Given the description of an element on the screen output the (x, y) to click on. 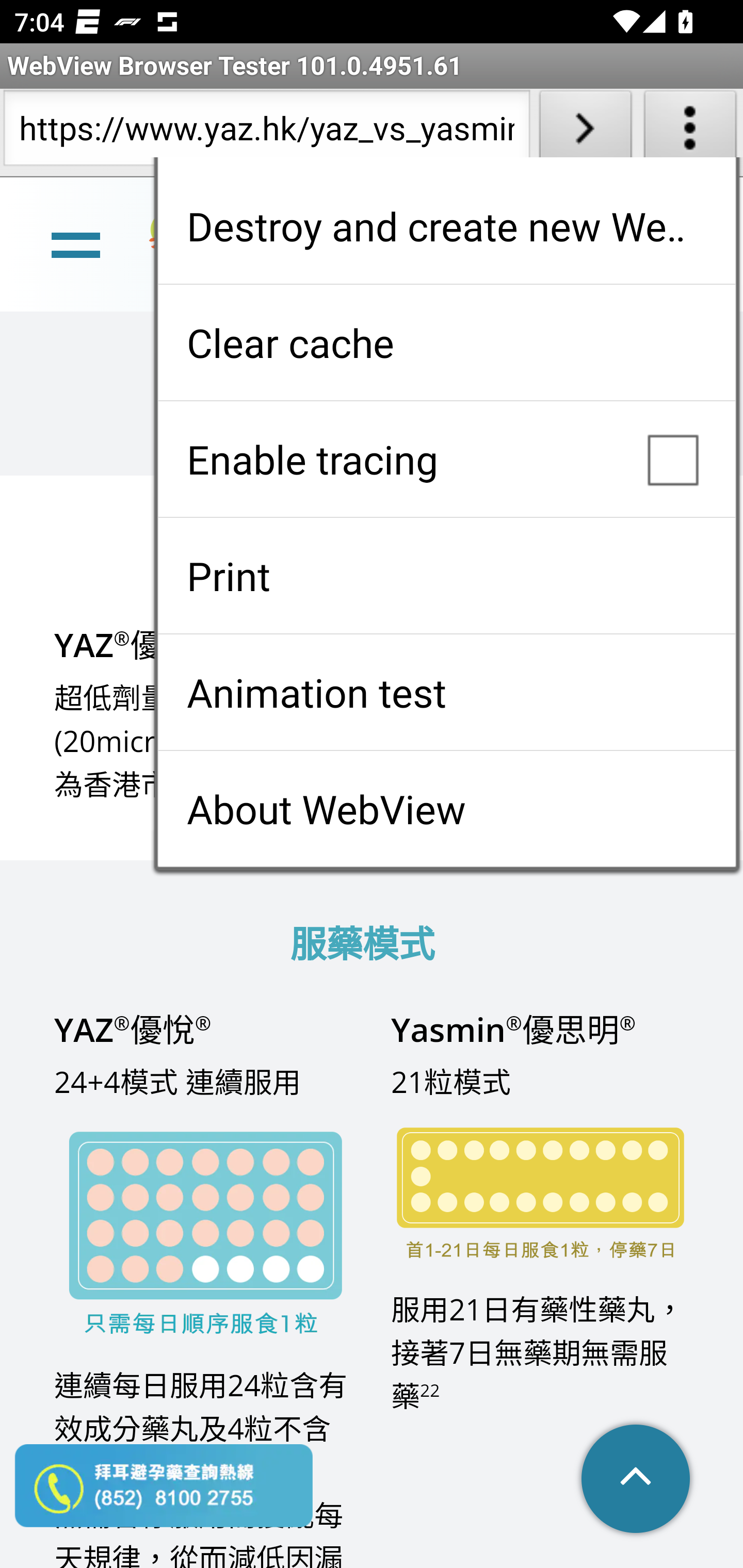
Destroy and create new WebView (446, 225)
Clear cache (446, 342)
Enable tracing (446, 459)
Print (446, 575)
Animation test (446, 692)
About WebView (446, 809)
